Given the description of an element on the screen output the (x, y) to click on. 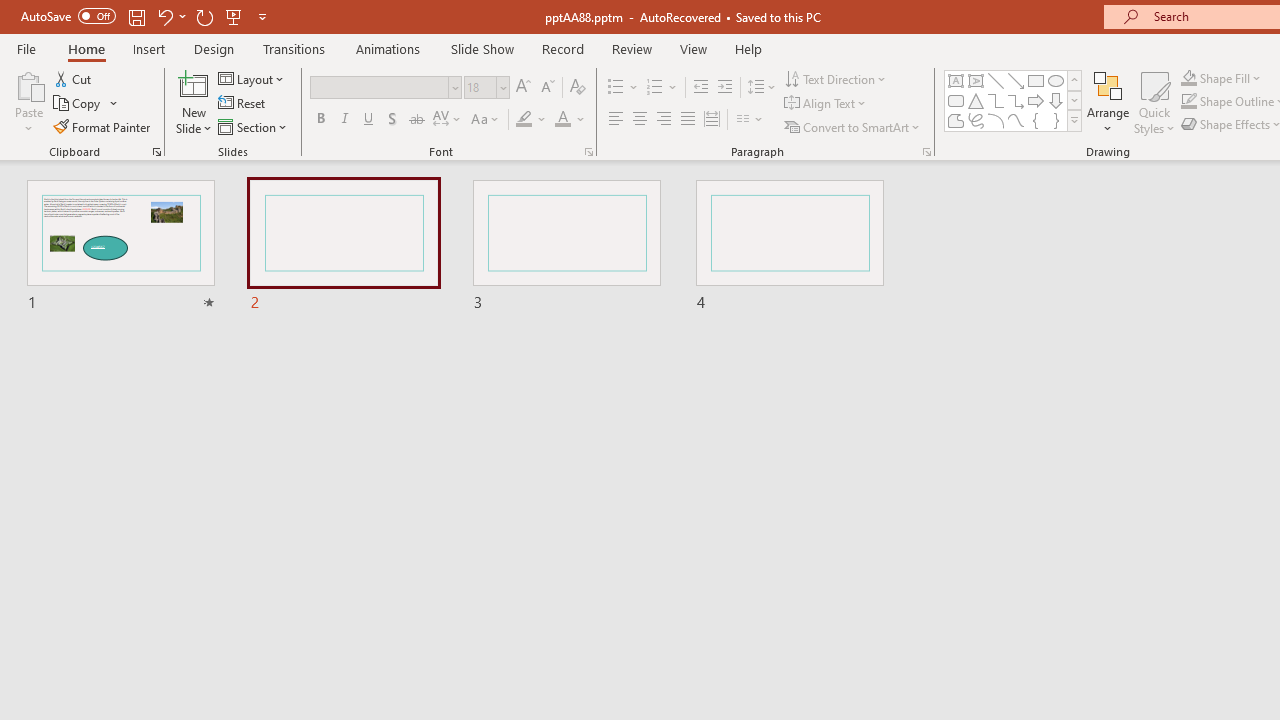
Shape Outline Teal, Accent 1 (1188, 101)
